Given the description of an element on the screen output the (x, y) to click on. 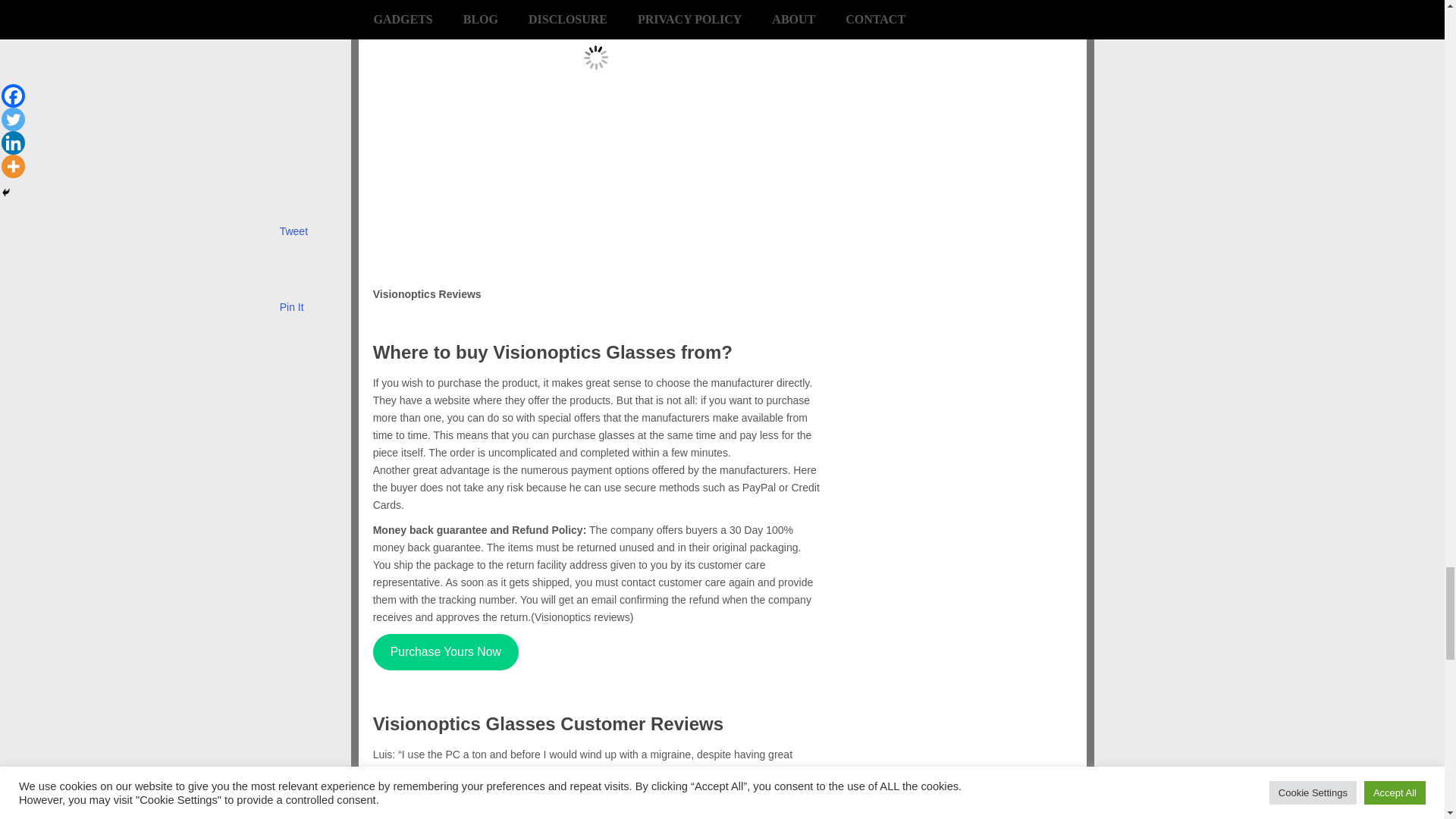
Purchase Yours Now (445, 651)
